Given the description of an element on the screen output the (x, y) to click on. 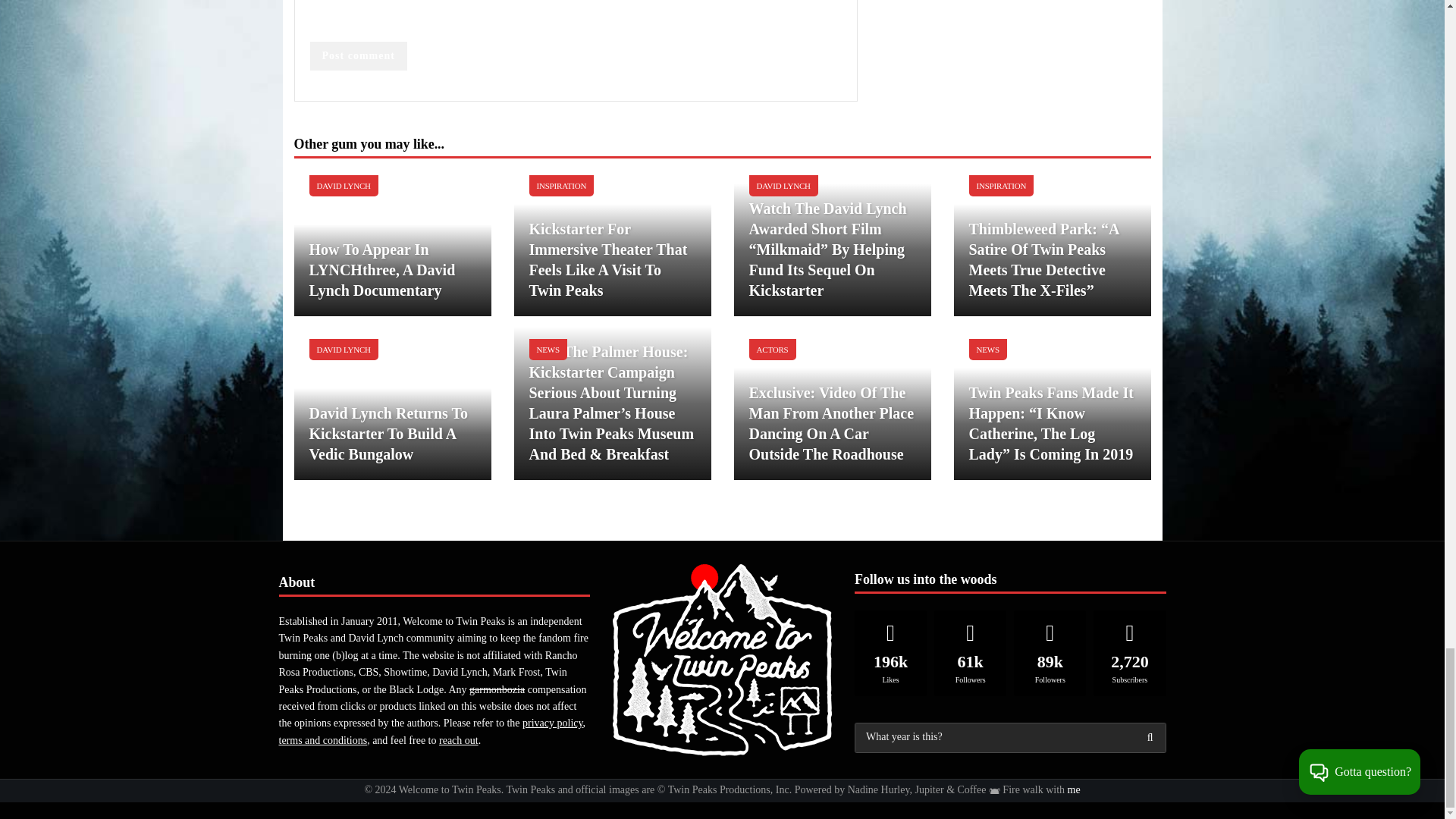
Post comment (357, 55)
